Given the description of an element on the screen output the (x, y) to click on. 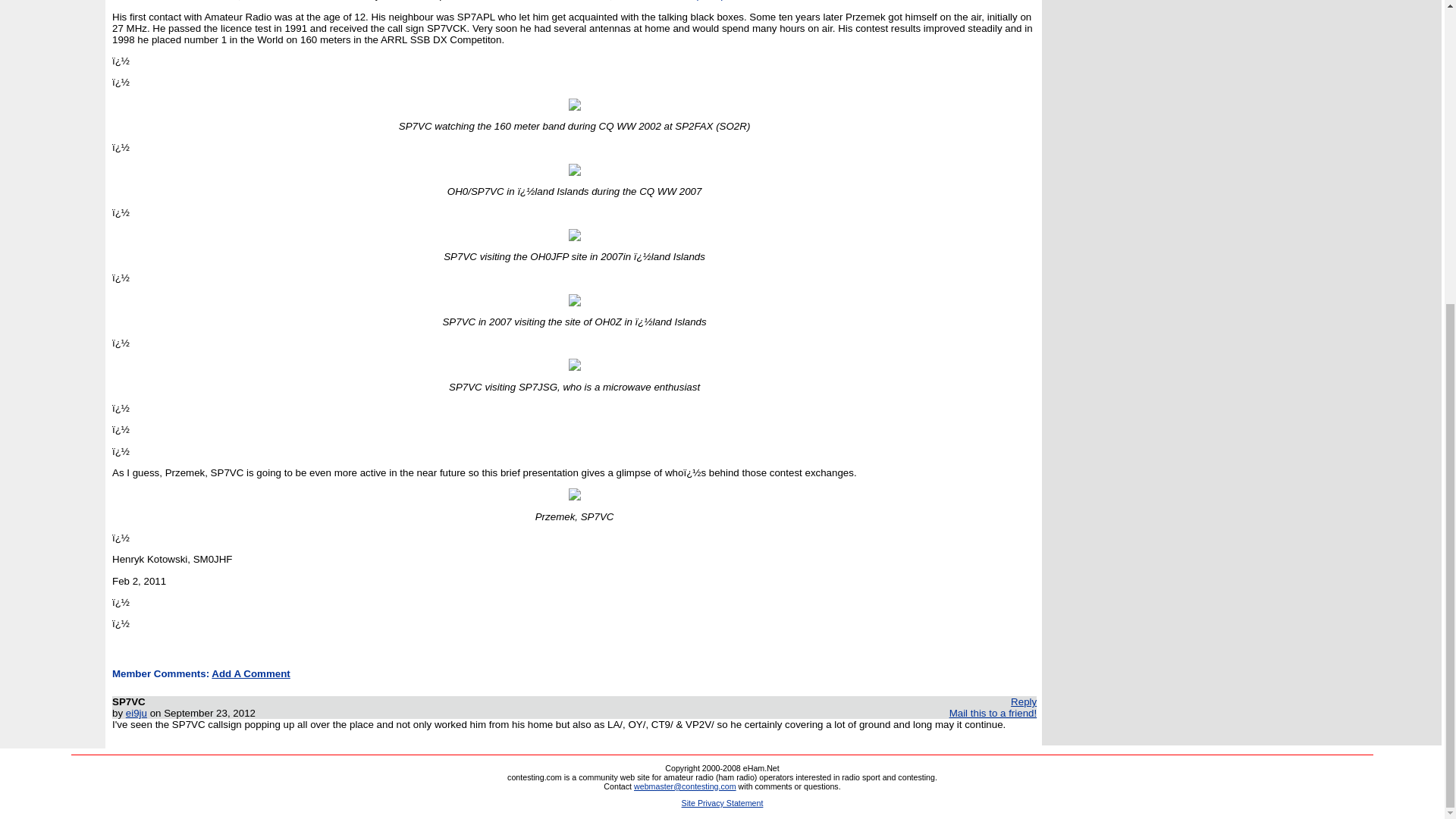
Member Comments: (160, 673)
Add A Comment (250, 673)
Site Privacy Statement (721, 802)
Reply (1023, 701)
www.sp7vc.pl (697, 0)
Mail this to a friend! (992, 713)
ei9ju (136, 713)
